Given the description of an element on the screen output the (x, y) to click on. 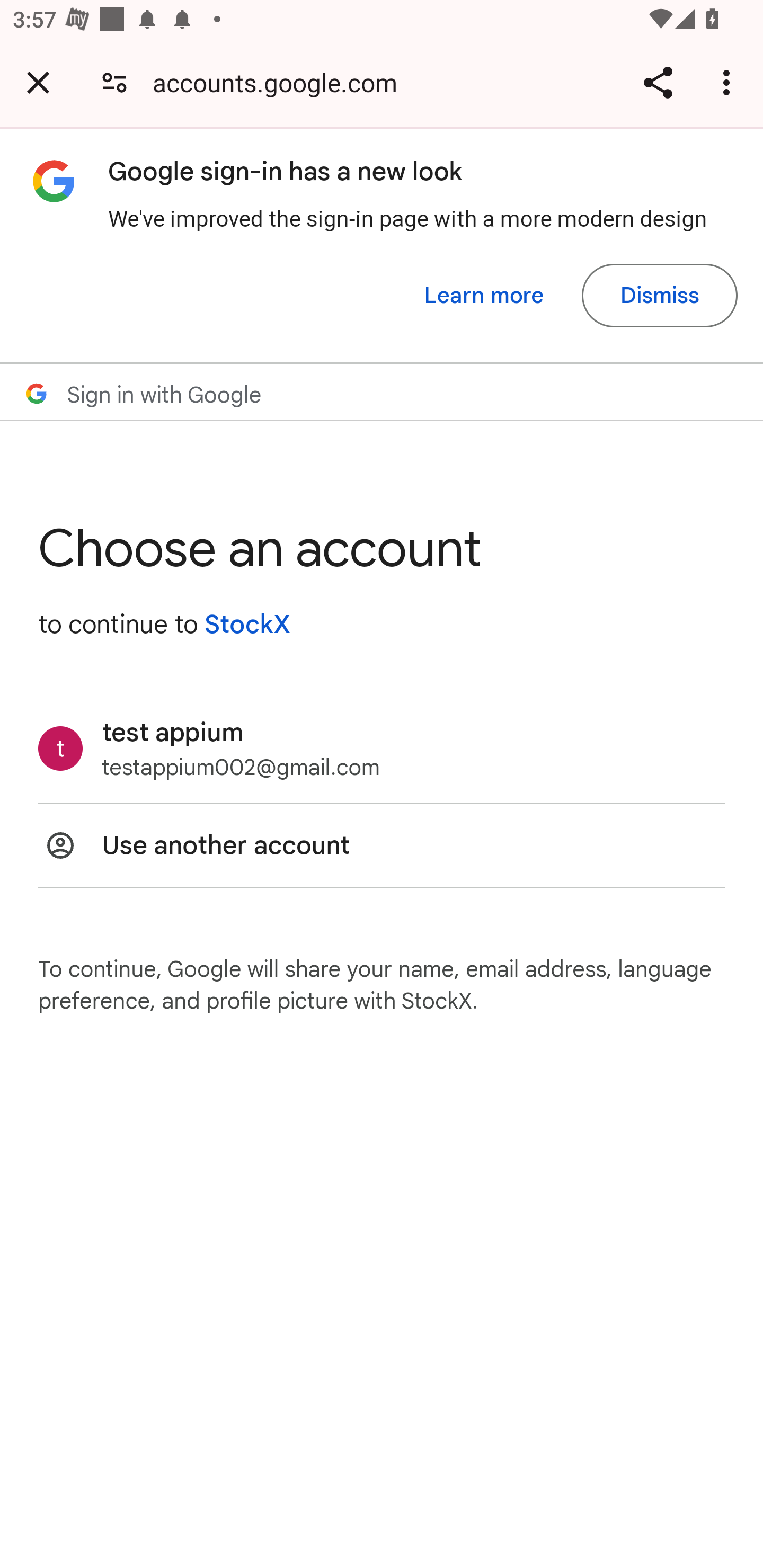
Close tab (38, 82)
Share (657, 82)
Customize and control Google Chrome (729, 82)
Connection is secure (114, 81)
accounts.google.com (281, 81)
Learn more (483, 295)
Dismiss (659, 295)
StockX (246, 623)
Use another account (381, 845)
